Given the description of an element on the screen output the (x, y) to click on. 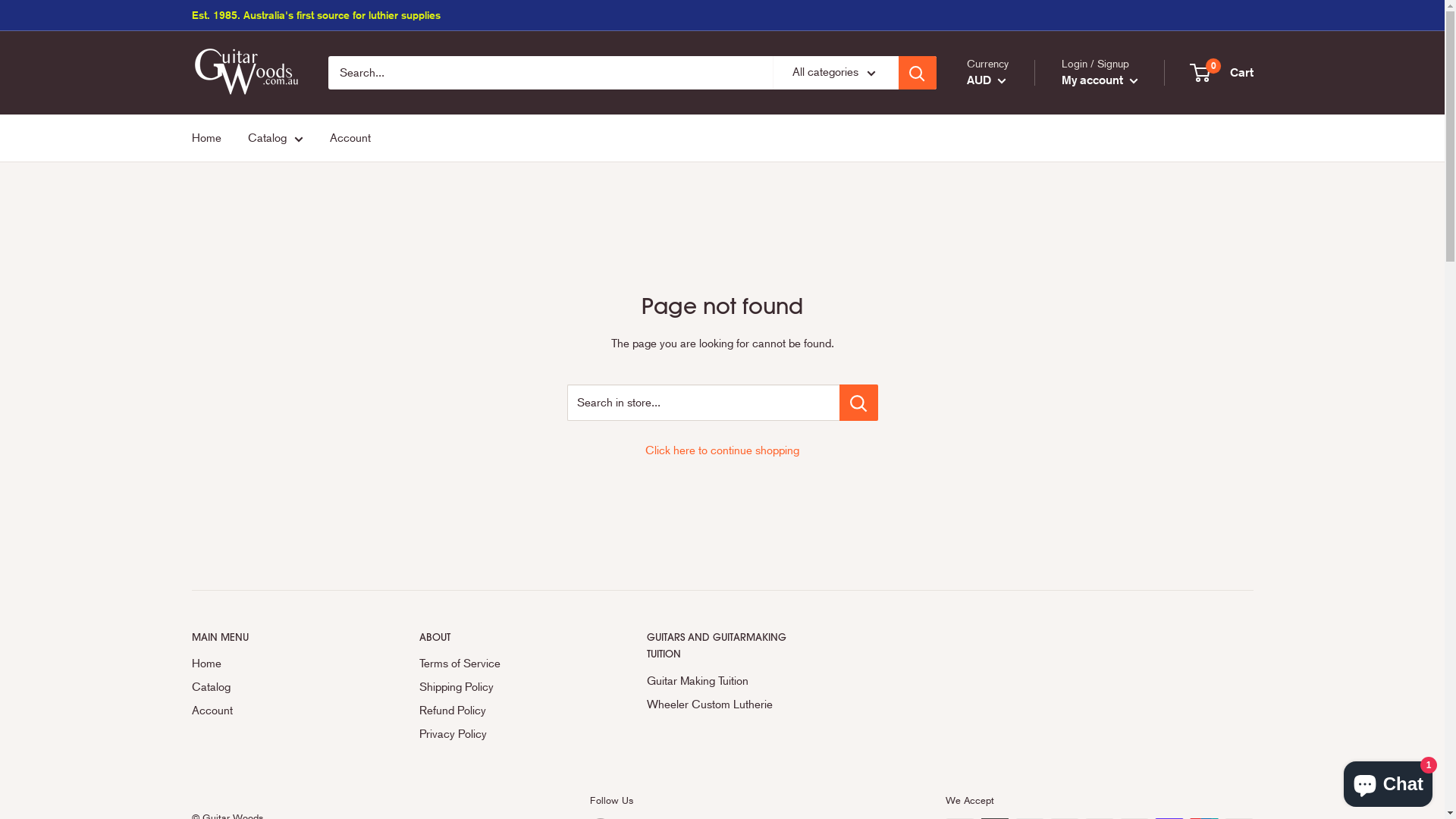
ABOUT Element type: text (505, 636)
MAIN MENU Element type: text (278, 636)
0
Cart Element type: text (1221, 72)
Click here to continue shopping Element type: text (722, 450)
Account Element type: text (278, 710)
Shipping Policy Element type: text (505, 687)
AUD Element type: text (985, 80)
GUITARS AND GUITARMAKING TUITION Element type: text (733, 645)
Terms of Service Element type: text (505, 663)
Catalog Element type: text (274, 137)
My account Element type: text (1099, 80)
Home Element type: text (205, 137)
Wheeler Custom Lutherie Element type: text (733, 704)
Refund Policy Element type: text (505, 710)
Guitar Making Tuition Element type: text (733, 681)
Shopify online store chat Element type: hover (1388, 780)
Catalog Element type: text (278, 687)
Home Element type: text (278, 663)
Privacy Policy Element type: text (505, 734)
Account Element type: text (349, 137)
